Given the description of an element on the screen output the (x, y) to click on. 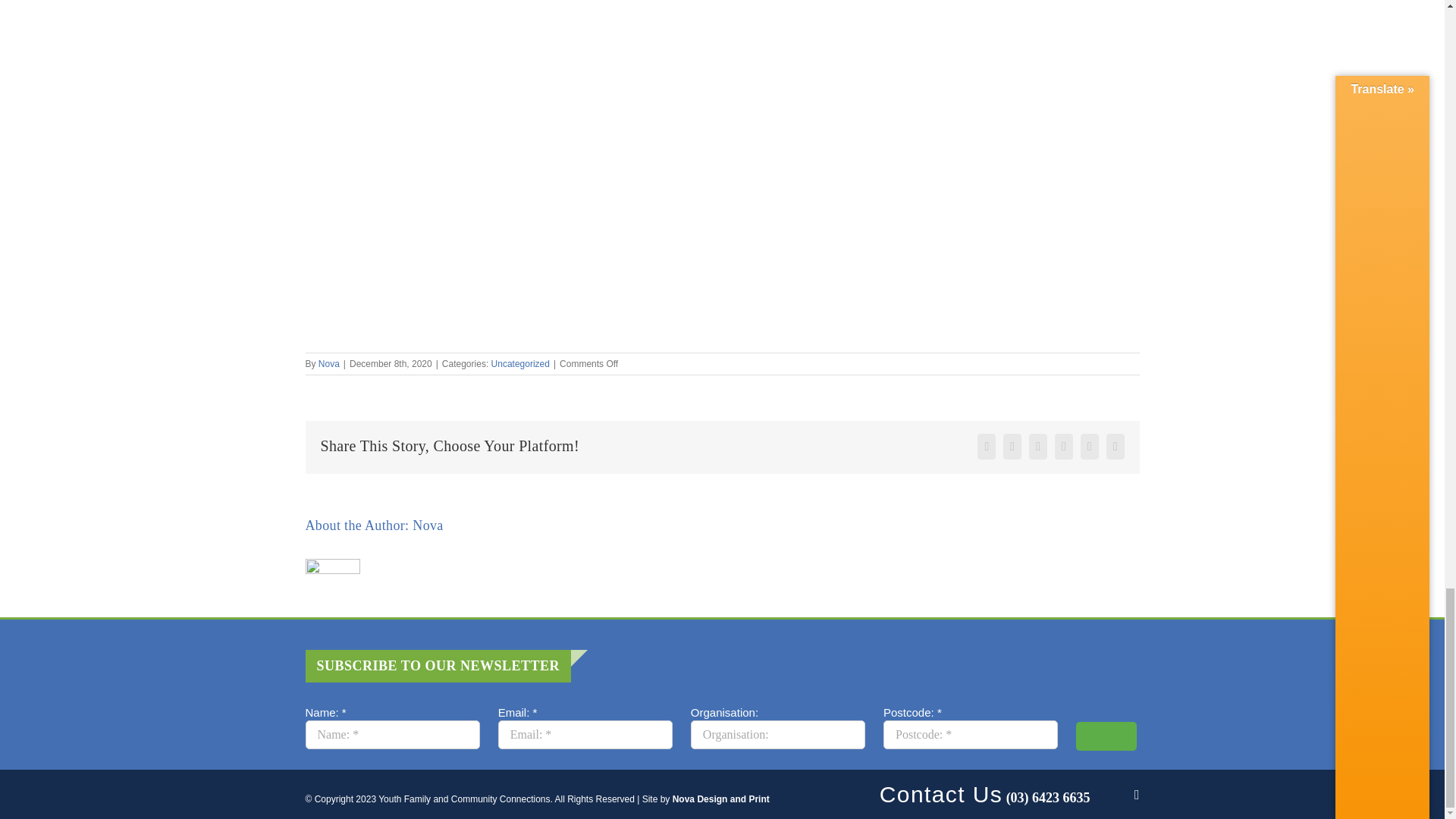
Posts by Nova (427, 525)
Name: (391, 734)
Subscribe (1106, 735)
Posts by Nova (328, 363)
